Given the description of an element on the screen output the (x, y) to click on. 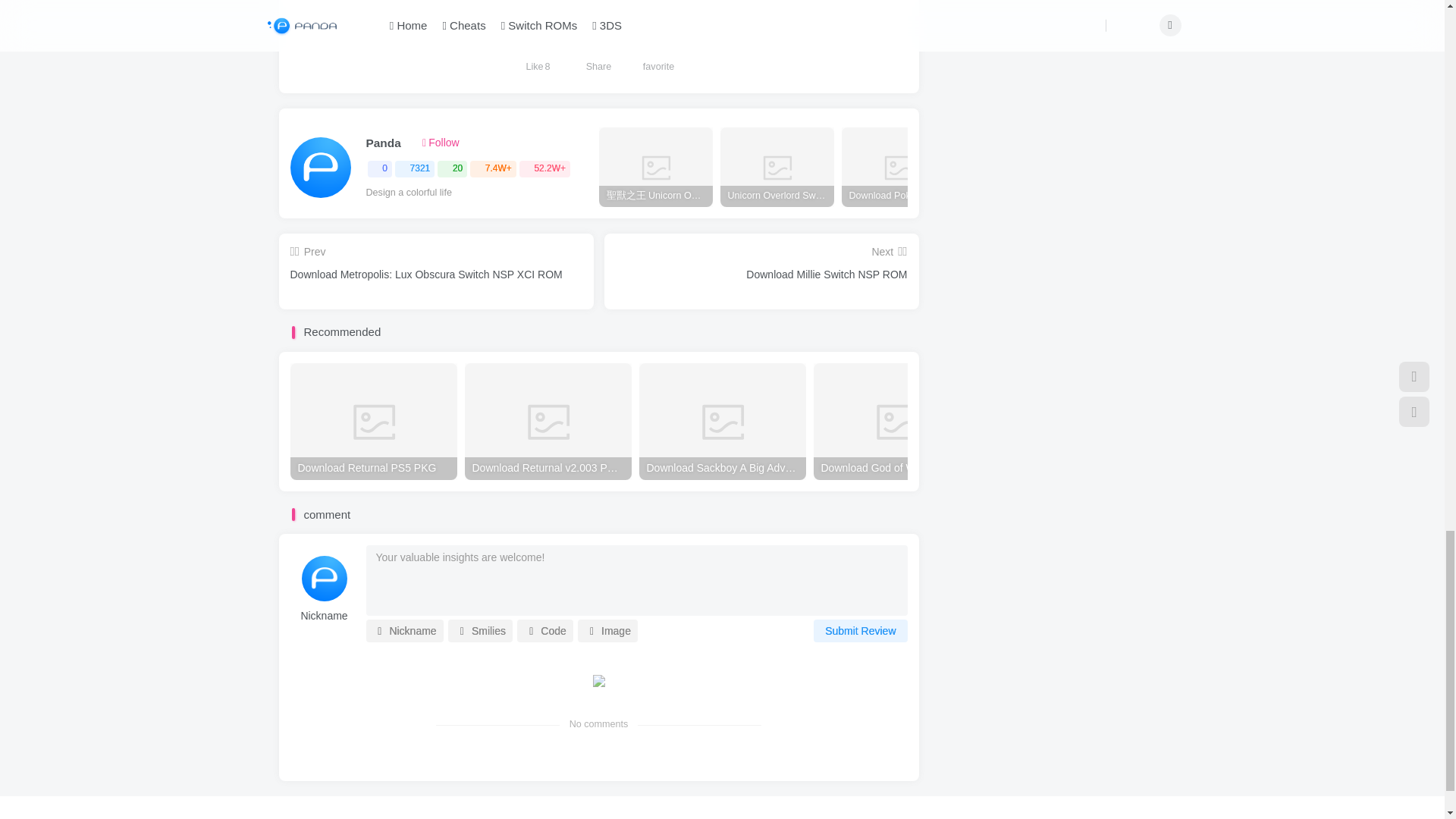
Total 20 comment (452, 169)
Panda (382, 143)
favorite (659, 52)
LV6 (408, 142)
Like8 (538, 52)
Fill in user information (323, 616)
Total 7321 article (413, 169)
Follow (441, 142)
A total of 0 card (378, 169)
